Given the description of an element on the screen output the (x, y) to click on. 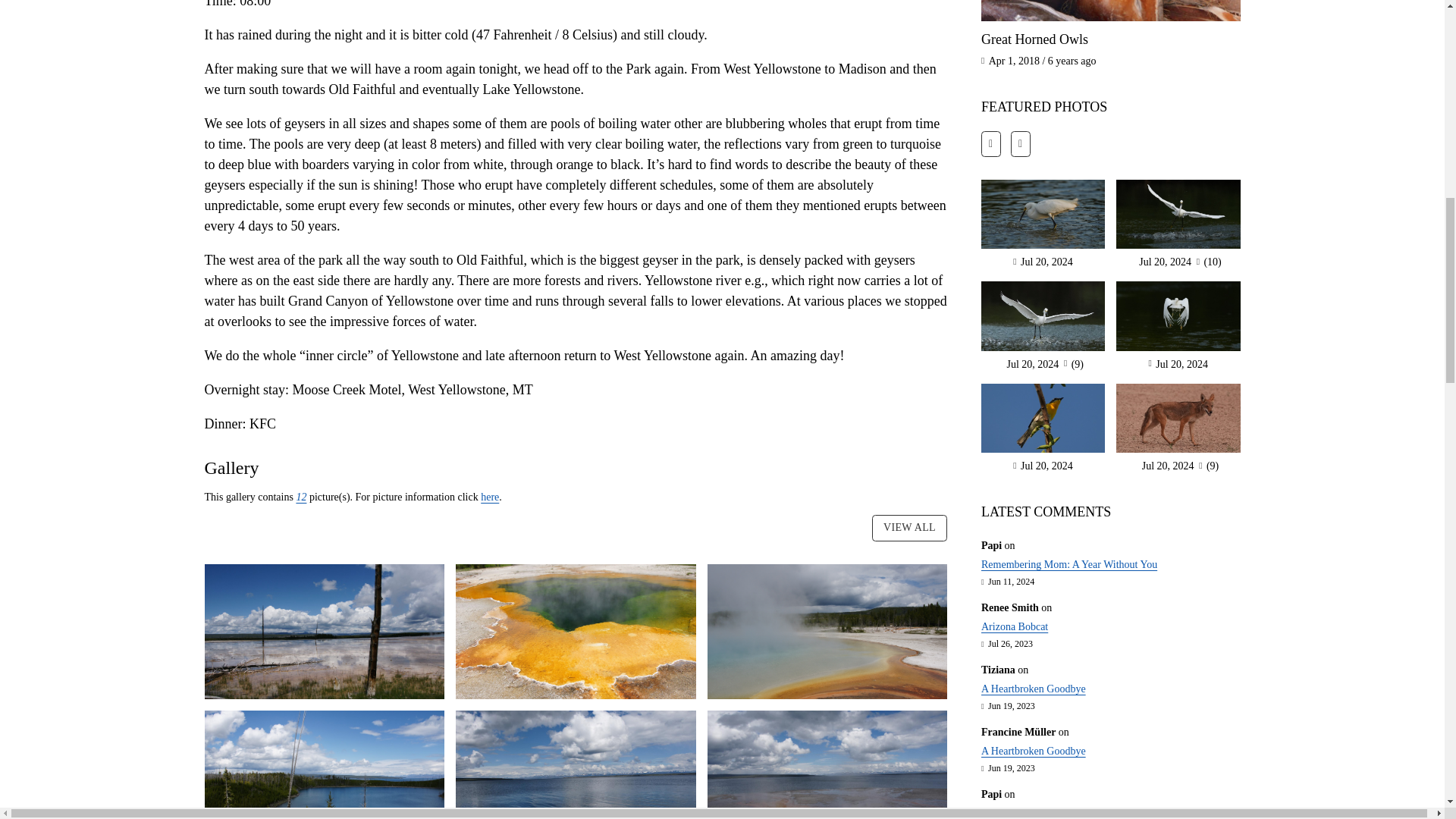
View picture information (489, 496)
